Given the description of an element on the screen output the (x, y) to click on. 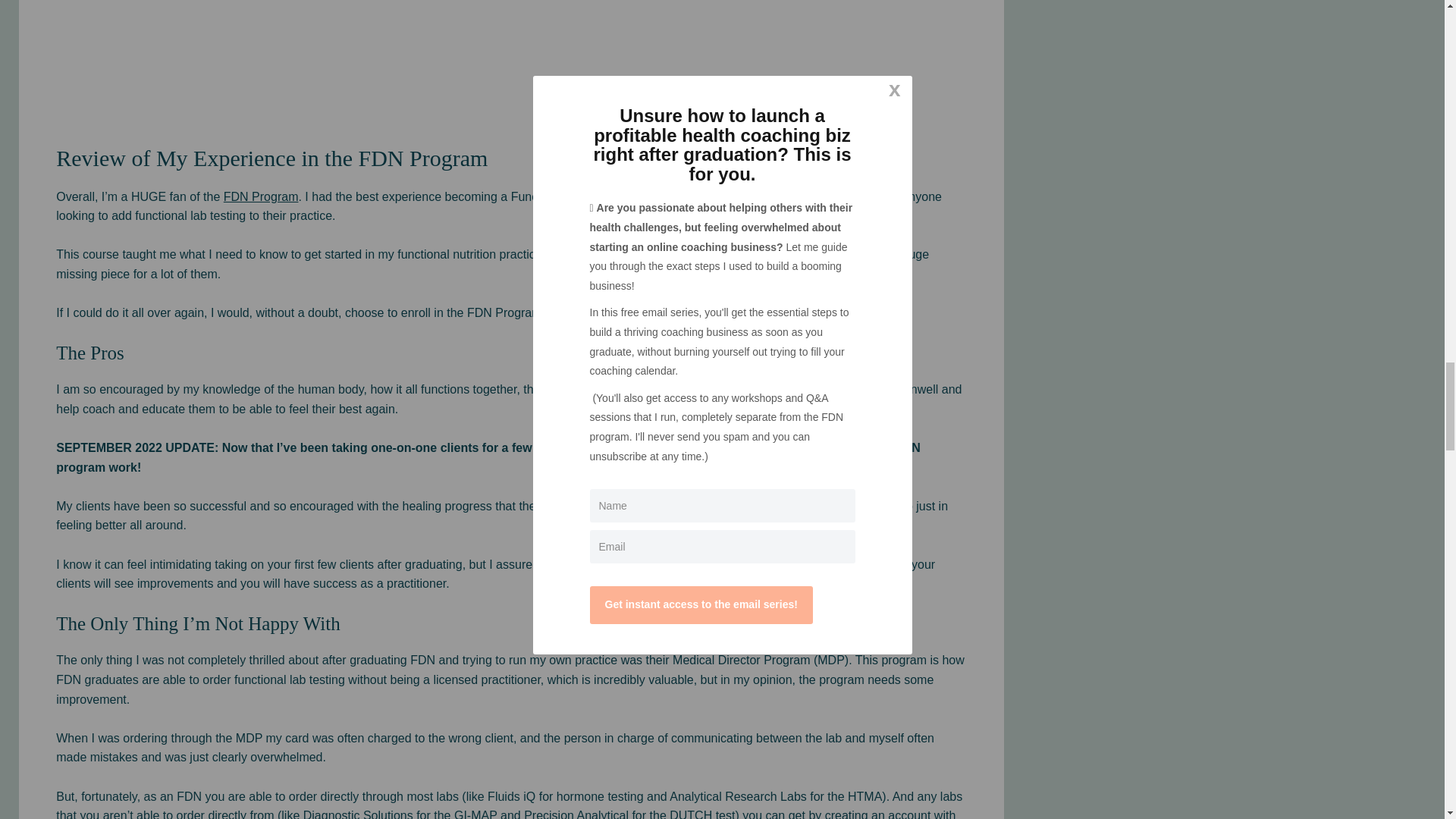
FDN Program (261, 196)
